Given the description of an element on the screen output the (x, y) to click on. 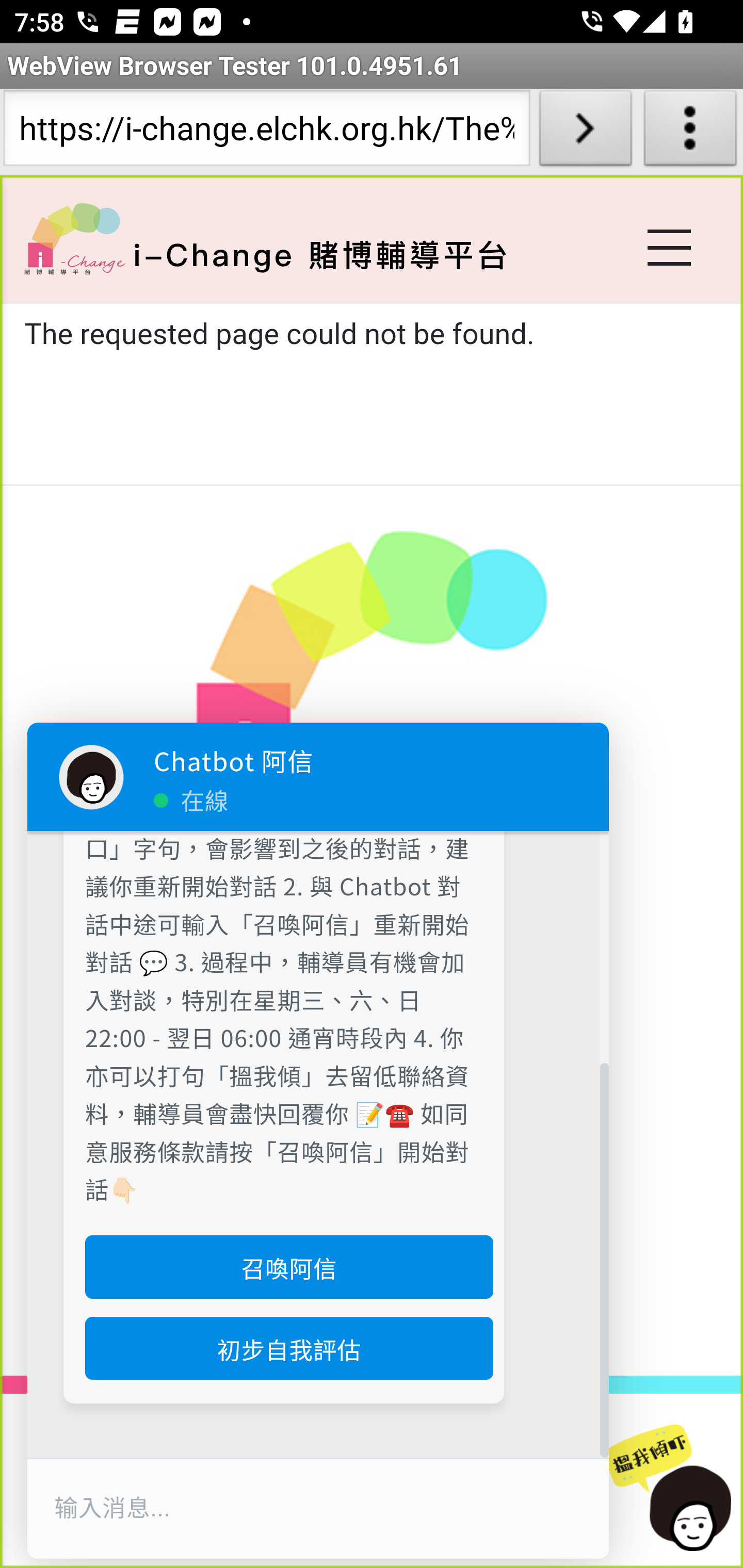
Load URL (585, 132)
About WebView (690, 132)
Home (74, 238)
Chat Now (676, 1488)
